Given the description of an element on the screen output the (x, y) to click on. 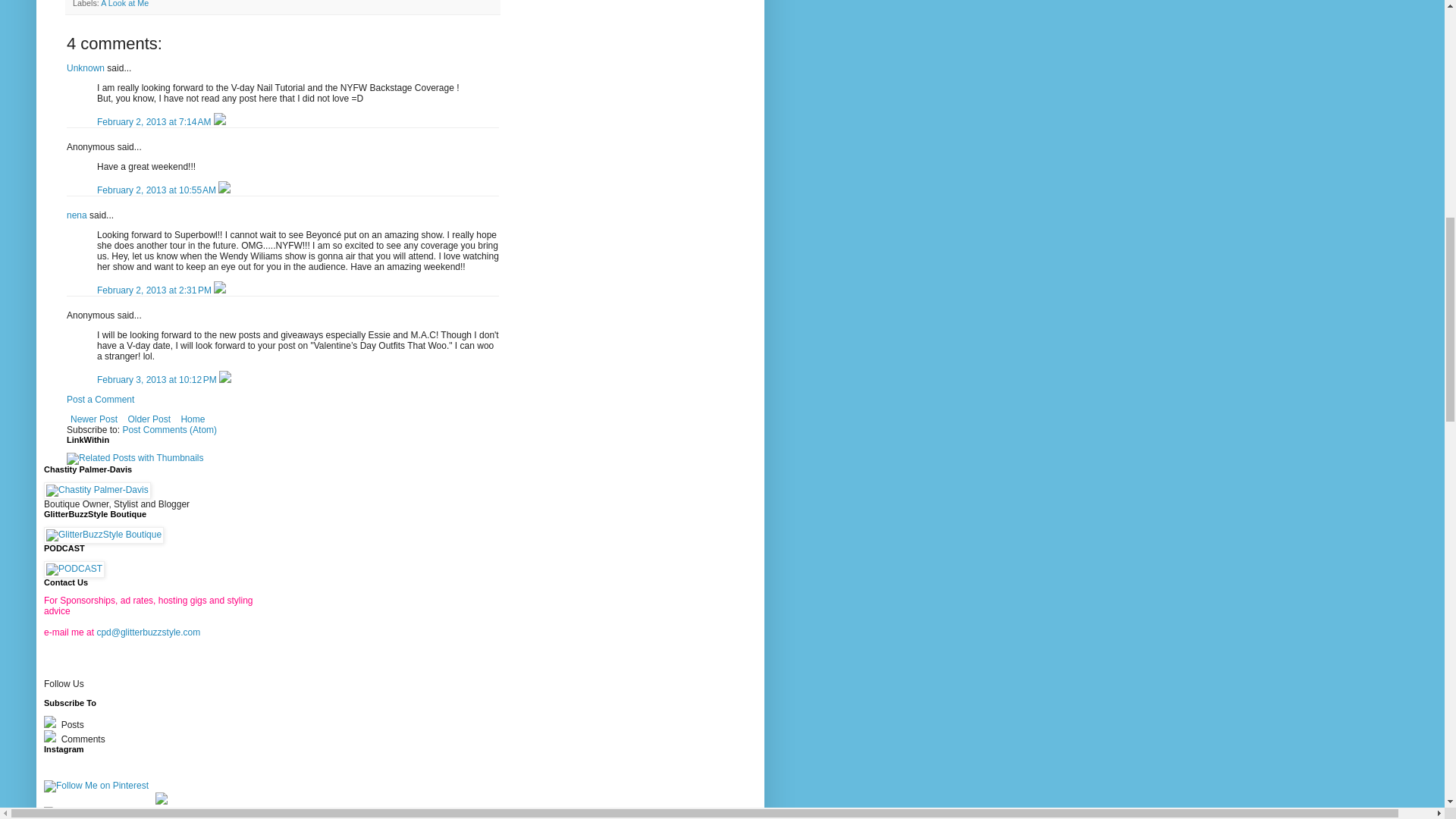
Home (192, 419)
Unknown (85, 68)
Older Post (148, 419)
comment permalink (155, 122)
nena (76, 214)
Delete Comment (224, 190)
A Look at Me (124, 3)
Newer Post (93, 419)
Delete Comment (219, 122)
comment permalink (155, 290)
Post a Comment (99, 398)
comment permalink (157, 190)
